Given the description of an element on the screen output the (x, y) to click on. 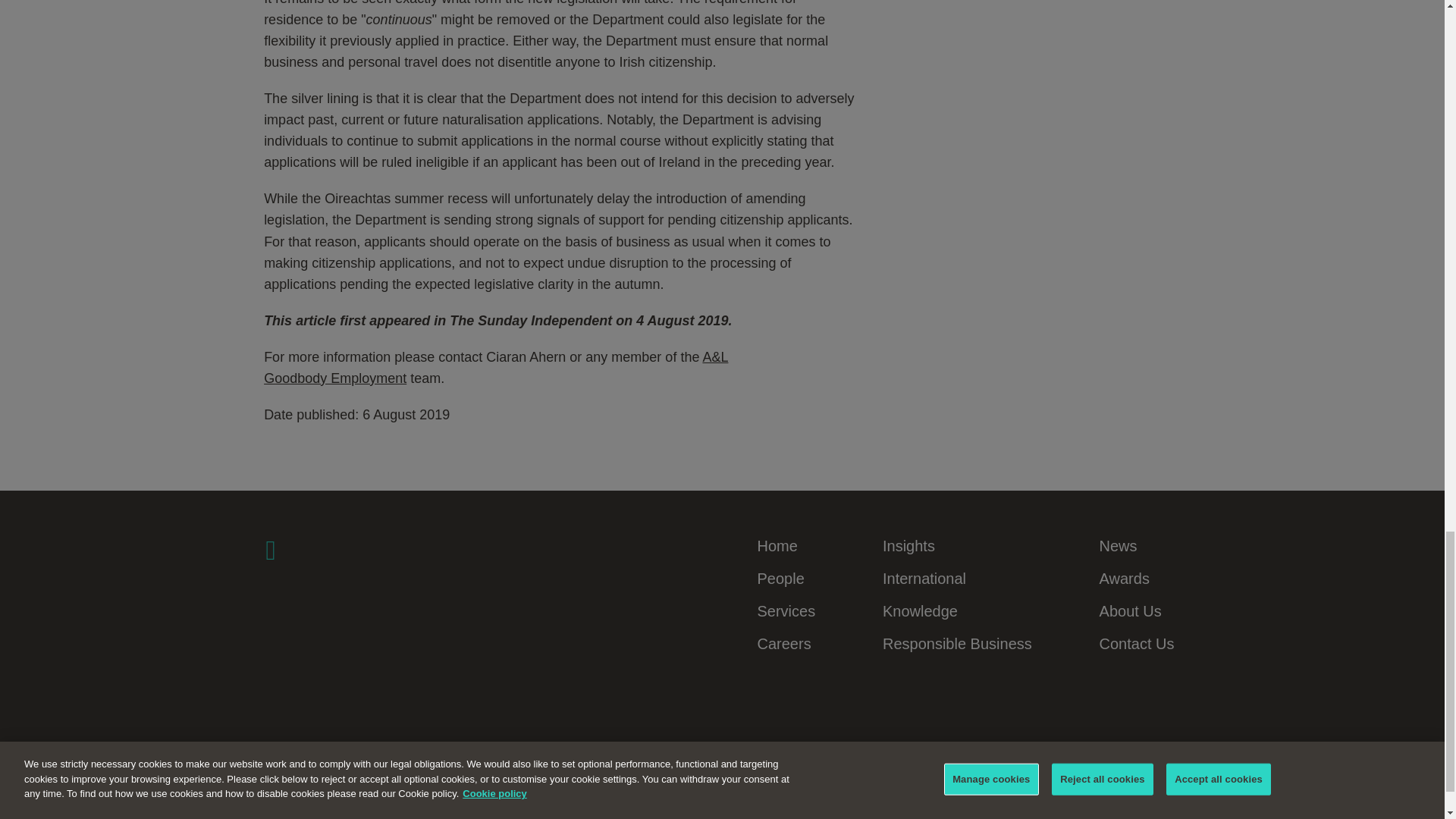
Back to top (1147, 814)
Back to top (1147, 814)
